Given the description of an element on the screen output the (x, y) to click on. 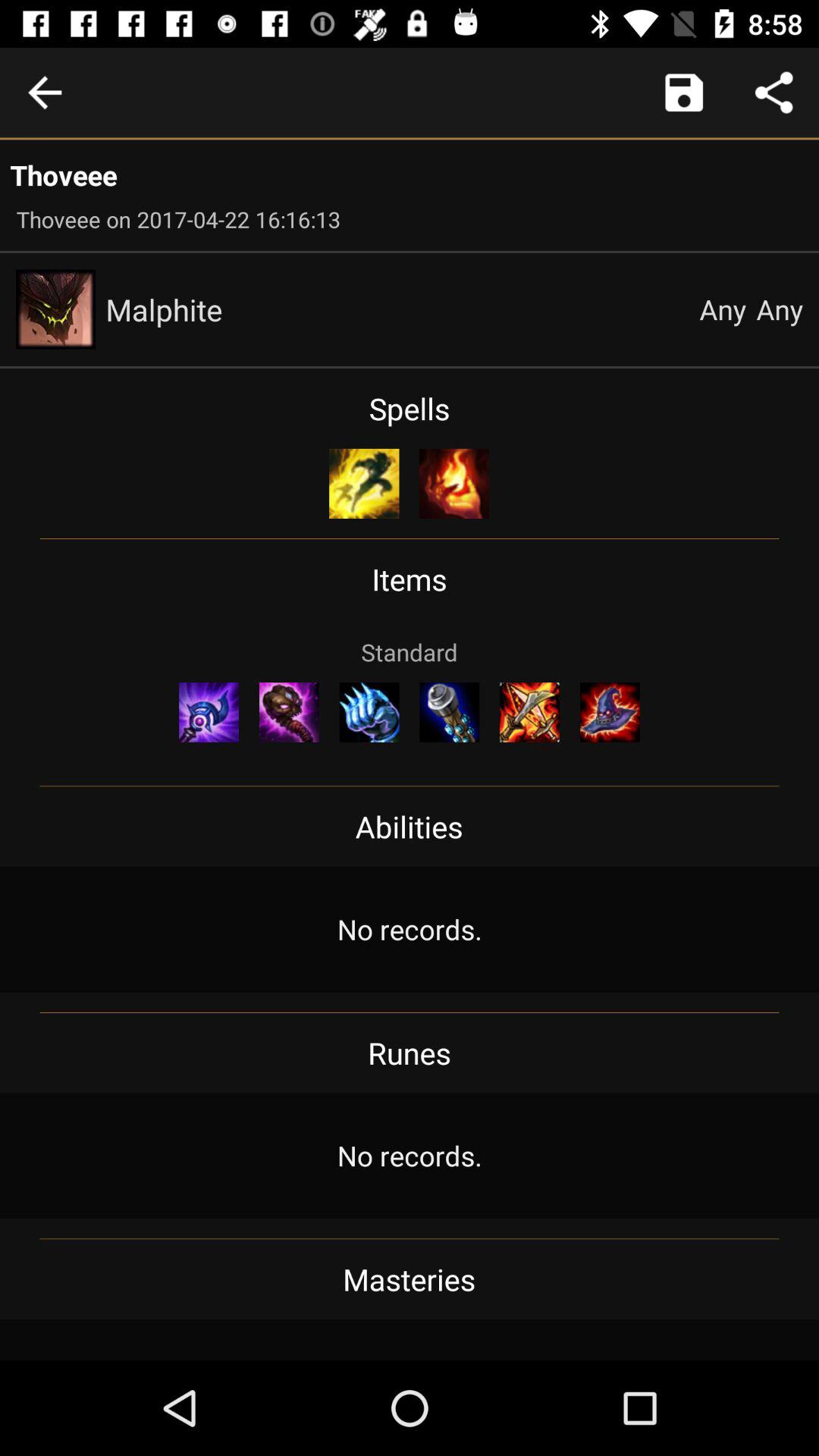
launch camera (684, 92)
